Given the description of an element on the screen output the (x, y) to click on. 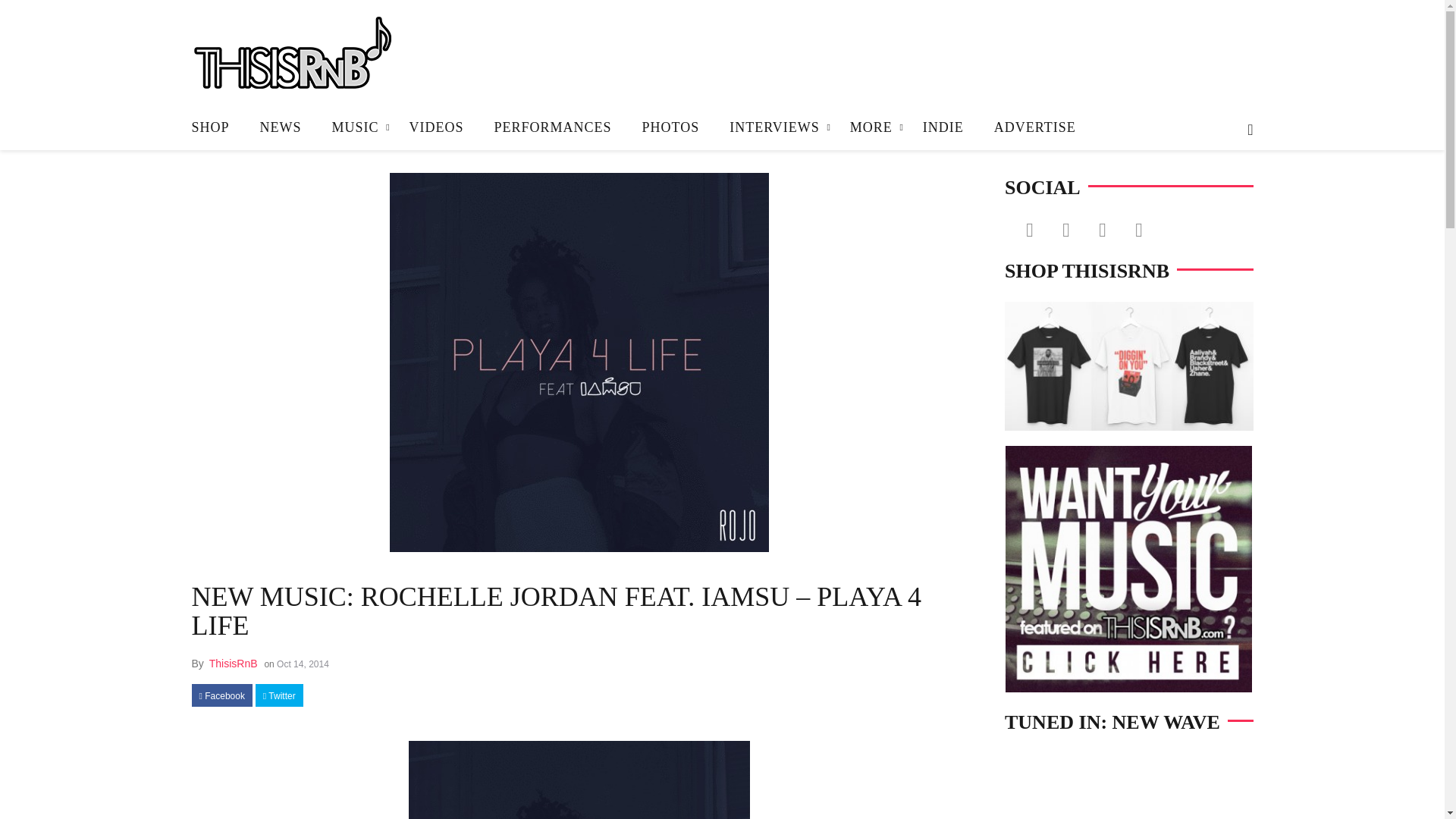
facebook (221, 696)
twitter (279, 696)
ion-social-facebook (1029, 229)
SHOP (217, 126)
ion-social-twitter (1065, 229)
ion-social-youtube (1138, 229)
MUSIC (355, 126)
ion-social-instagram (1101, 229)
NEWS (280, 126)
